Given the description of an element on the screen output the (x, y) to click on. 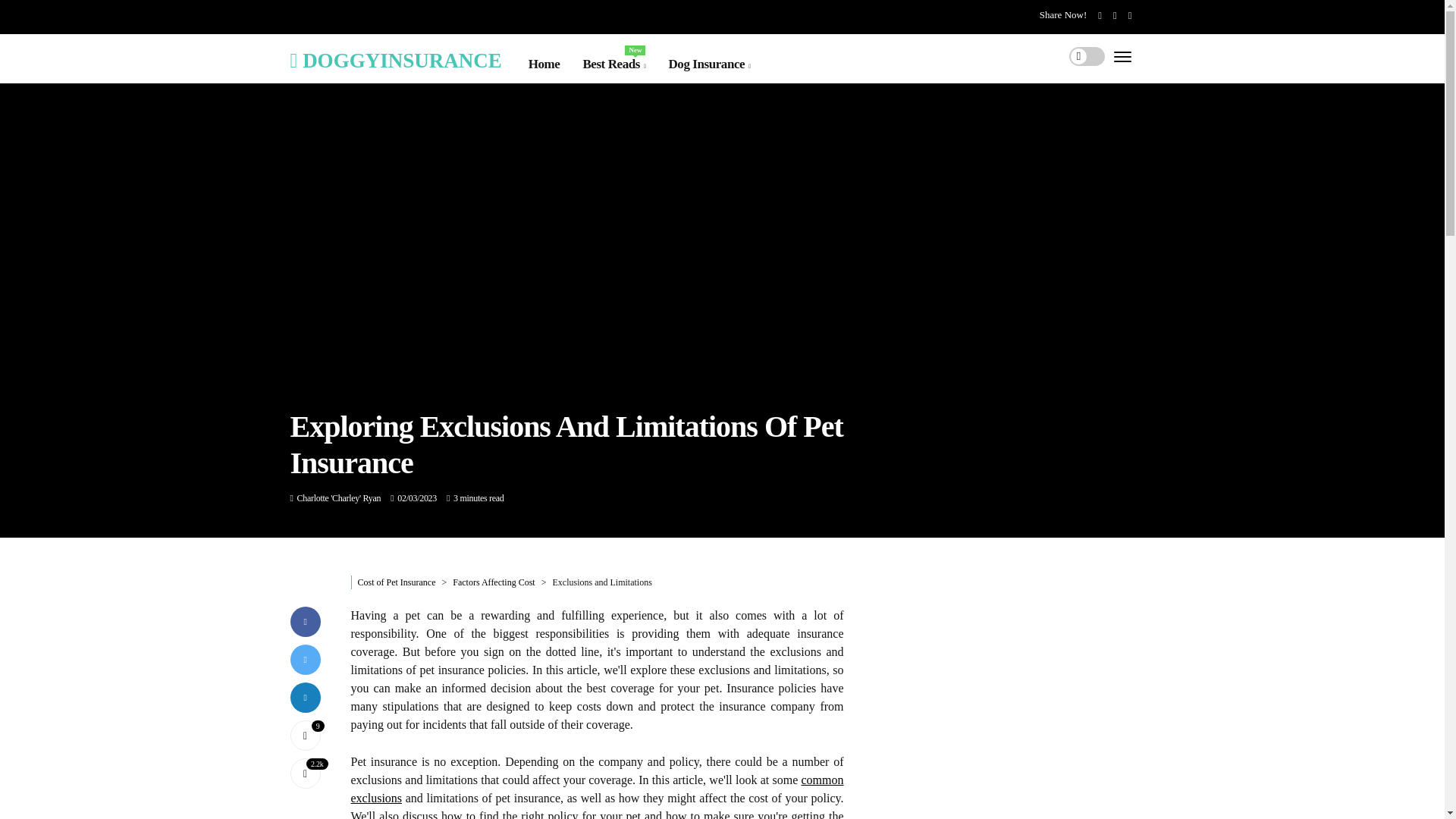
Posts by Charlotte 'Charley' Ryan (339, 498)
DOGGYINSURANCE (394, 59)
Dog Insurance (708, 64)
Home (544, 64)
Like (304, 735)
